Given the description of an element on the screen output the (x, y) to click on. 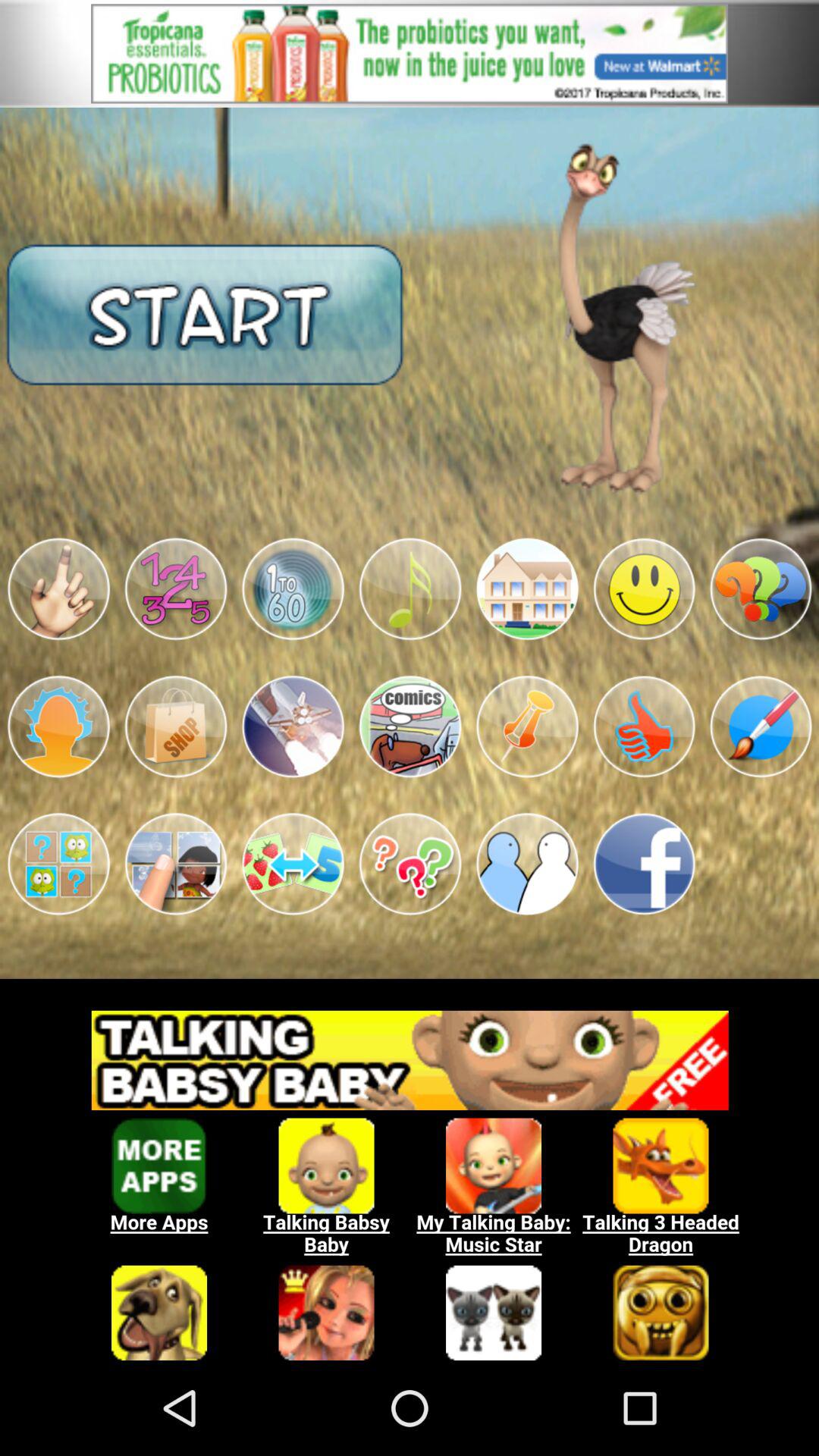
open image (526, 589)
